Given the description of an element on the screen output the (x, y) to click on. 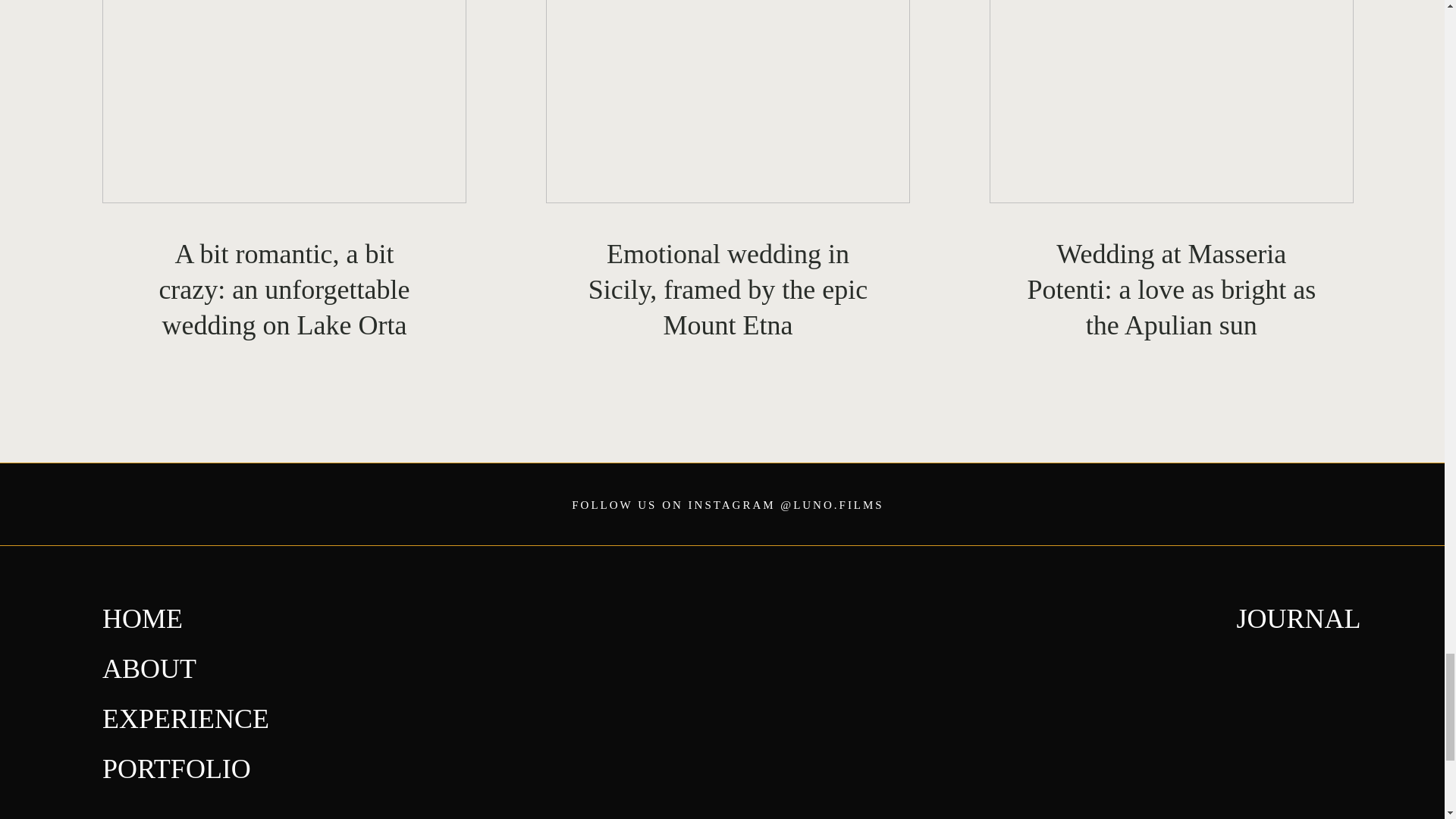
HOME (142, 618)
Emotional wedding in Sicily, framed by the epic Mount Etna (726, 289)
ABOUT (148, 668)
JOURNAL (1297, 618)
PORTFOLIO (175, 768)
EXPERIENCE (185, 718)
